Given the description of an element on the screen output the (x, y) to click on. 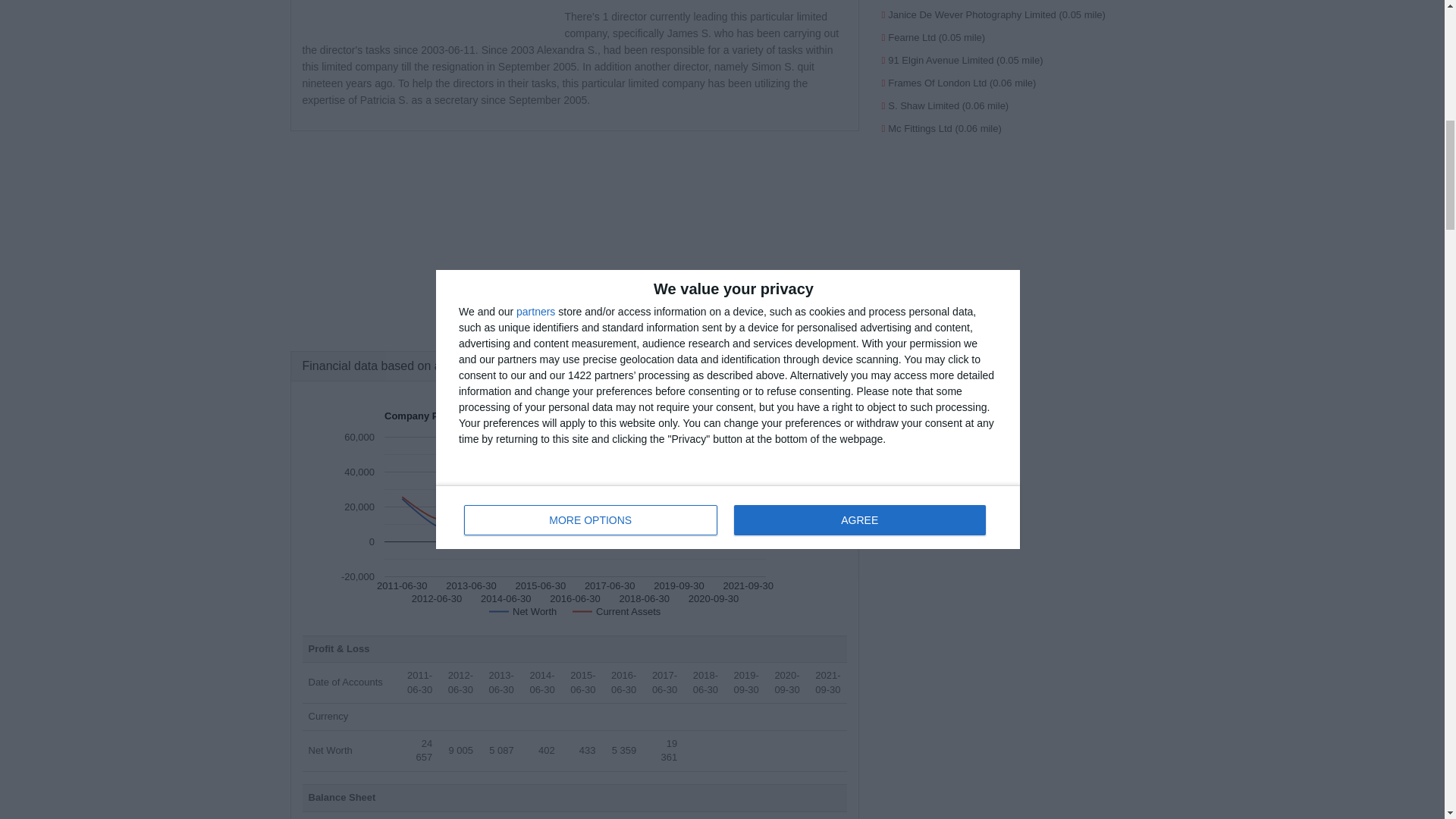
Company's total assets minus its liabilities (329, 749)
